Given the description of an element on the screen output the (x, y) to click on. 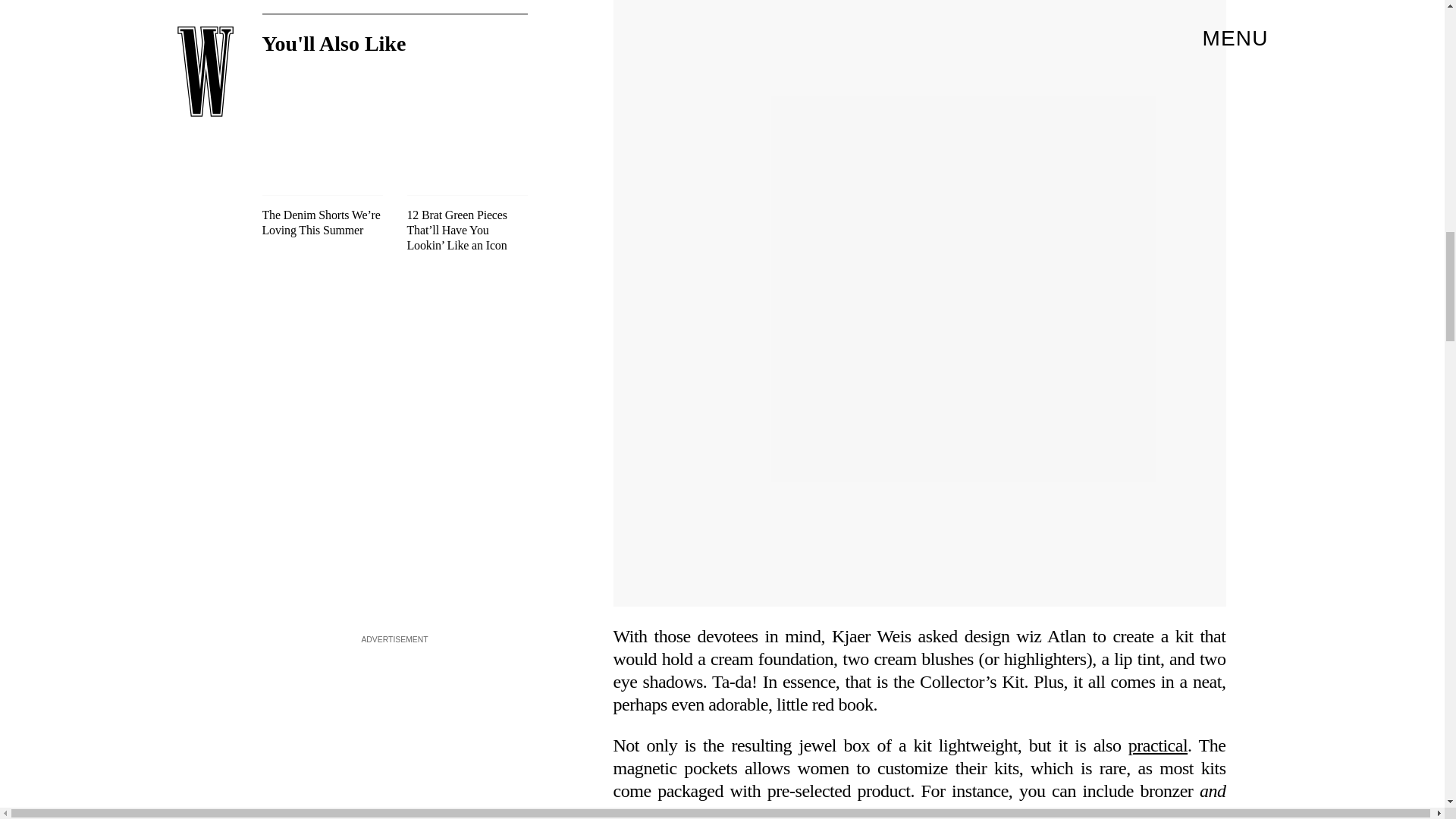
practical (1158, 745)
